Given the description of an element on the screen output the (x, y) to click on. 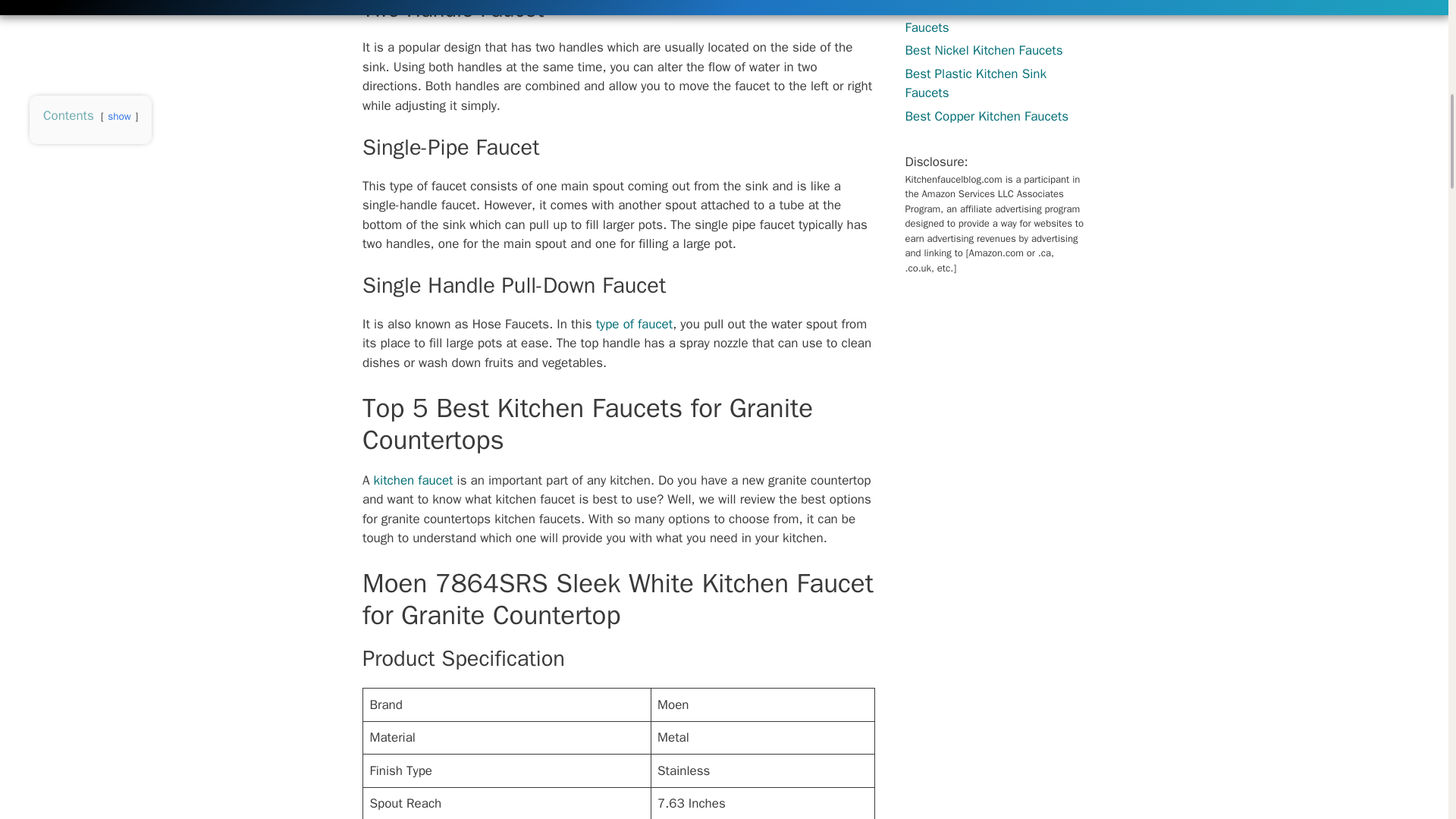
Scroll back to top (1409, 720)
